Given the description of an element on the screen output the (x, y) to click on. 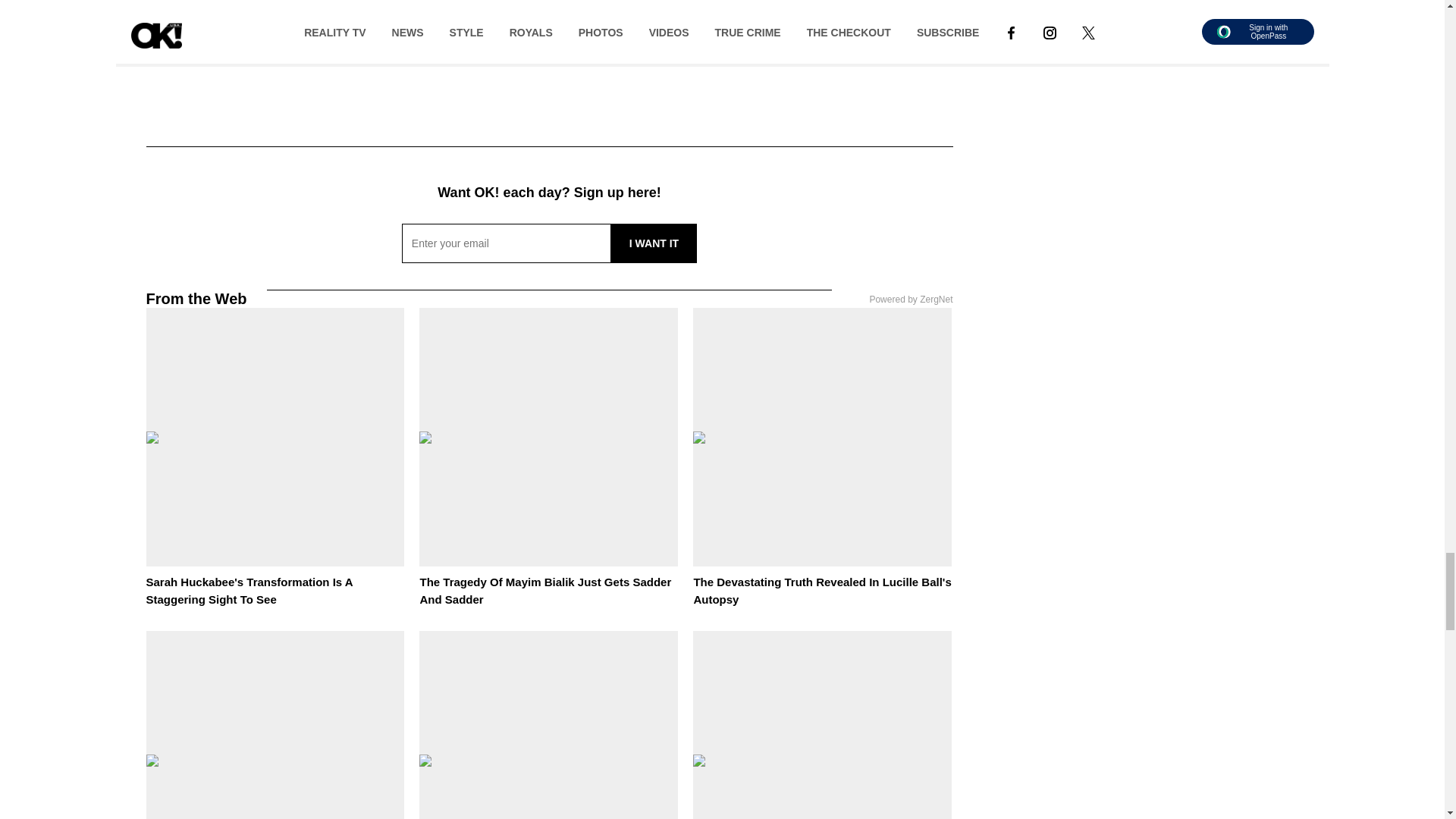
I WANT IT (654, 242)
